Given the description of an element on the screen output the (x, y) to click on. 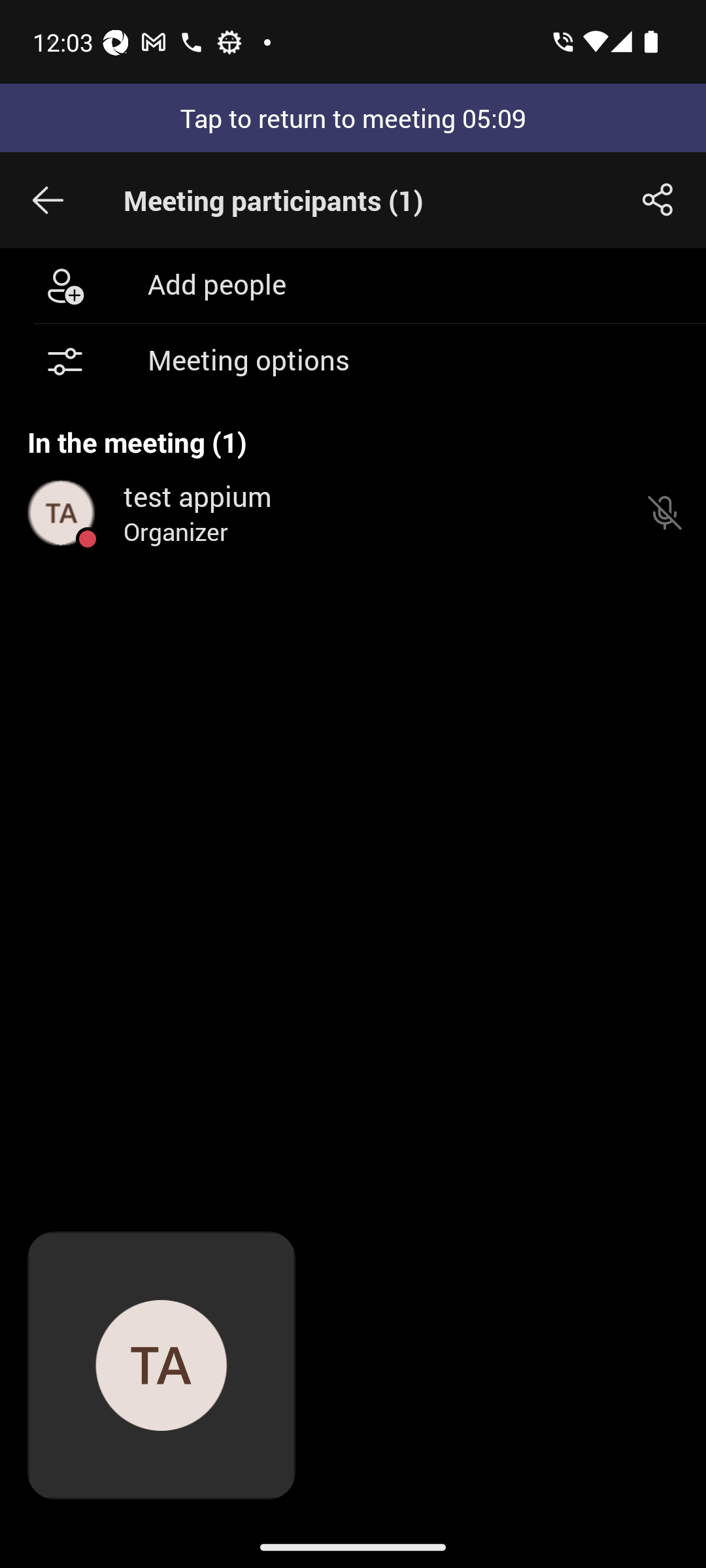
Tap to return to meeting 05:09 (353, 117)
Back (48, 199)
Share meeting invite (657, 199)
Add people (353, 285)
Meeting options (353, 361)
